Given the description of an element on the screen output the (x, y) to click on. 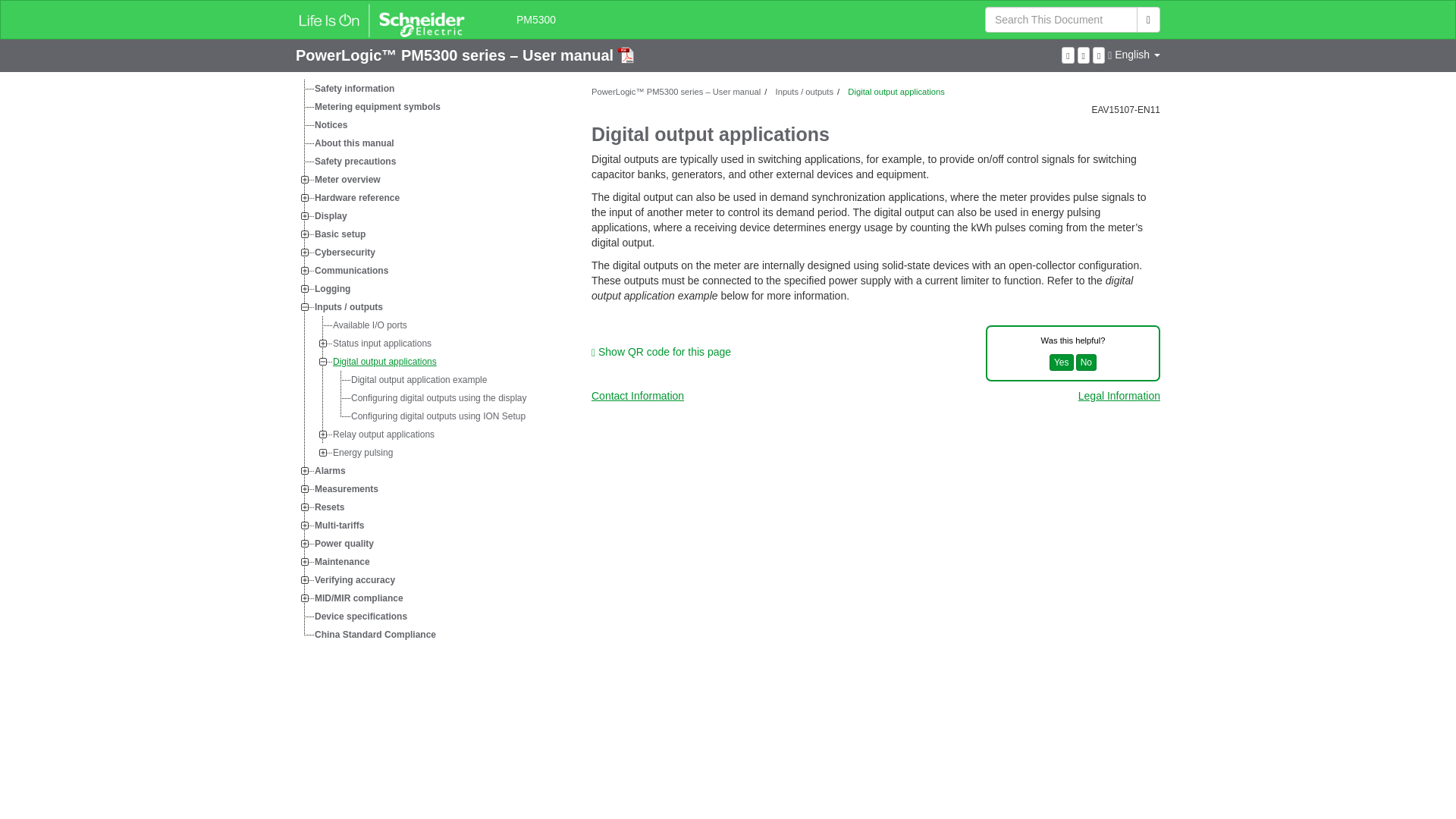
Digital output application example (419, 380)
PDF (625, 54)
Safety information (355, 88)
Hardware reference (358, 198)
Communications (352, 270)
PM5300 (536, 19)
Legal Information (1119, 395)
PM5300 (536, 19)
Digital output applications (385, 361)
Other Languages (1134, 54)
Cybersecurity (346, 252)
Basic setup (341, 234)
Safety precautions (356, 161)
Notices (332, 125)
Status input applications (382, 343)
